Given the description of an element on the screen output the (x, y) to click on. 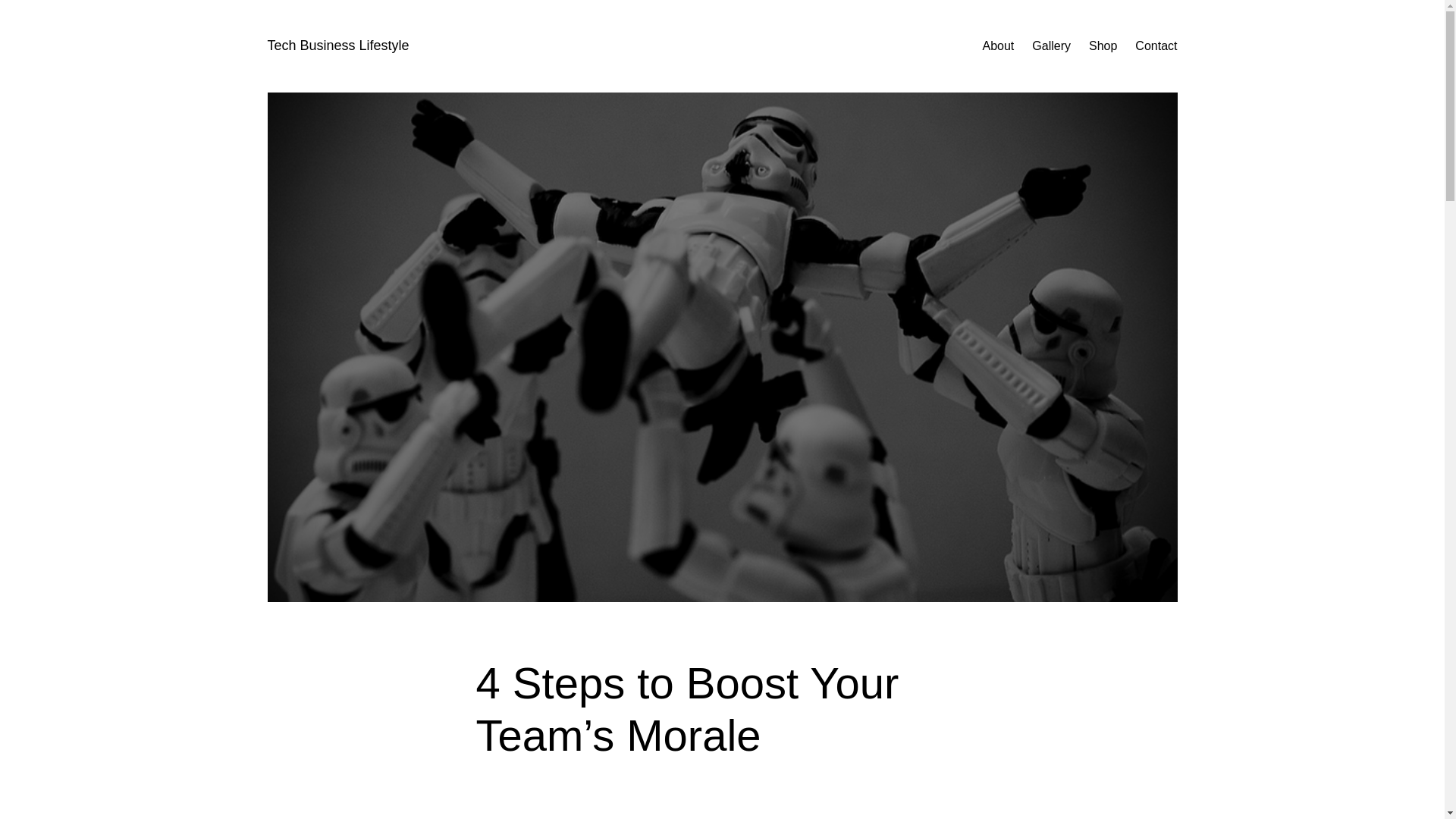
Gallery (1051, 46)
About (997, 46)
Tech Business Lifestyle (337, 45)
Shop (1102, 46)
Contact (1155, 46)
Advertisement (722, 808)
